Given the description of an element on the screen output the (x, y) to click on. 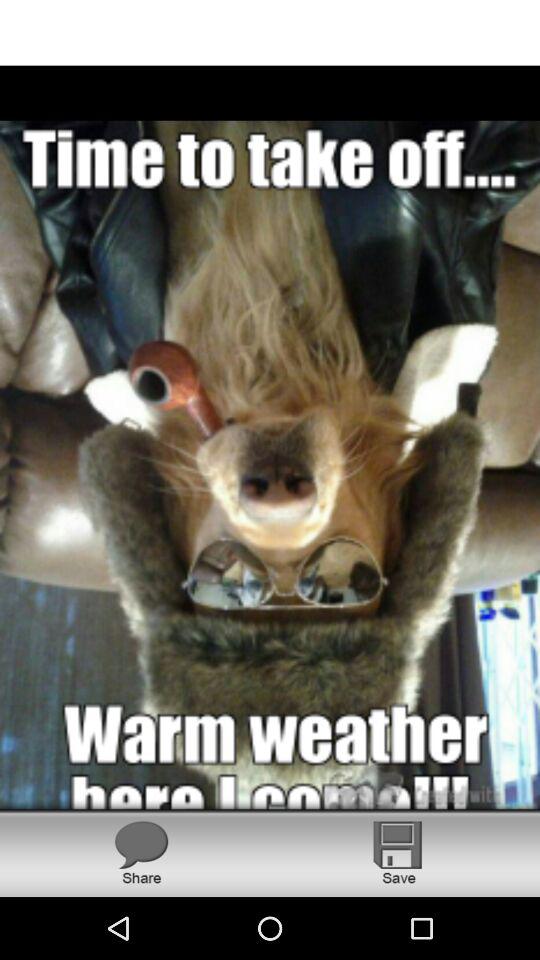
save image (398, 852)
